Given the description of an element on the screen output the (x, y) to click on. 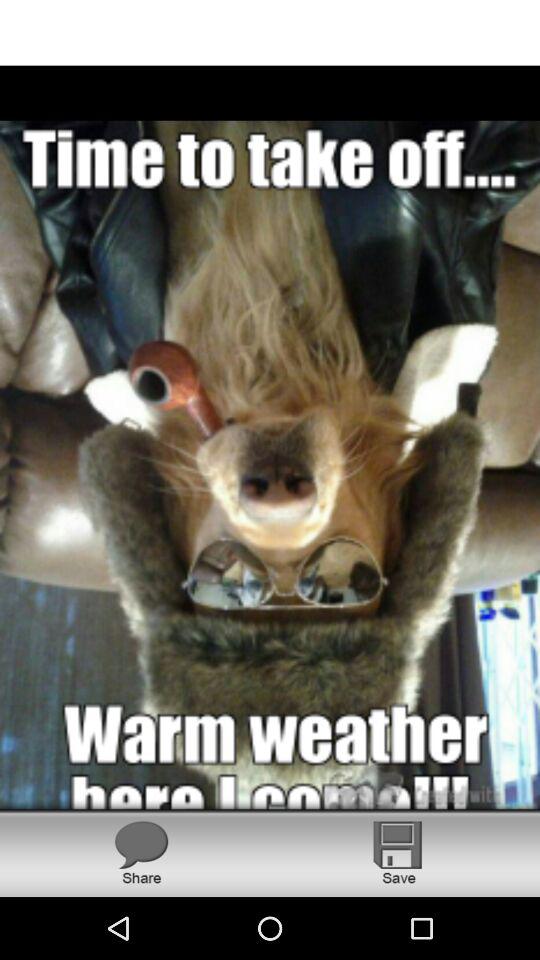
save image (398, 852)
